Given the description of an element on the screen output the (x, y) to click on. 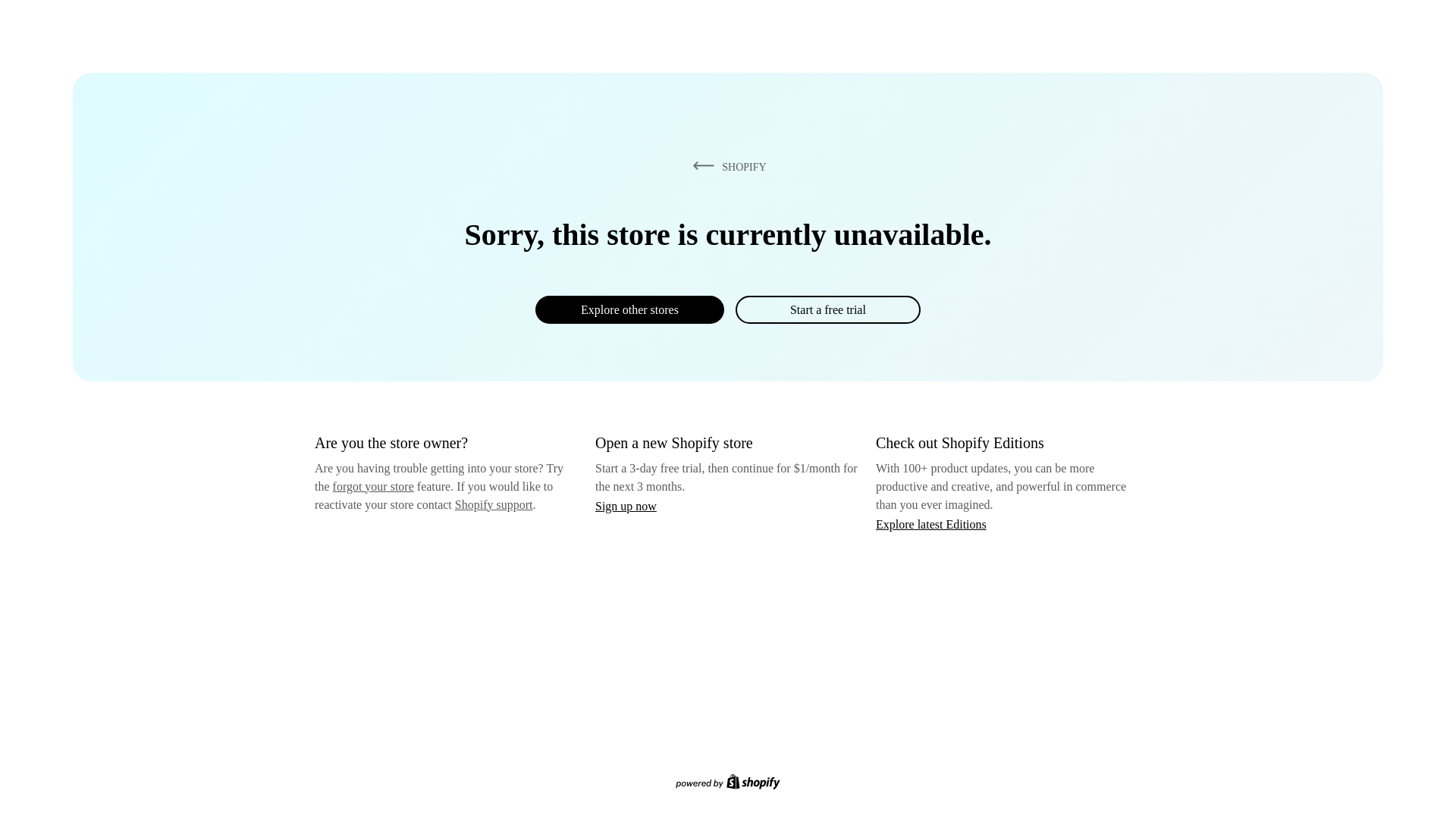
Explore other stores (629, 309)
Sign up now (625, 505)
Explore latest Editions (931, 523)
SHOPIFY (726, 166)
Start a free trial (827, 309)
forgot your store (373, 486)
Shopify support (493, 504)
